Given the description of an element on the screen output the (x, y) to click on. 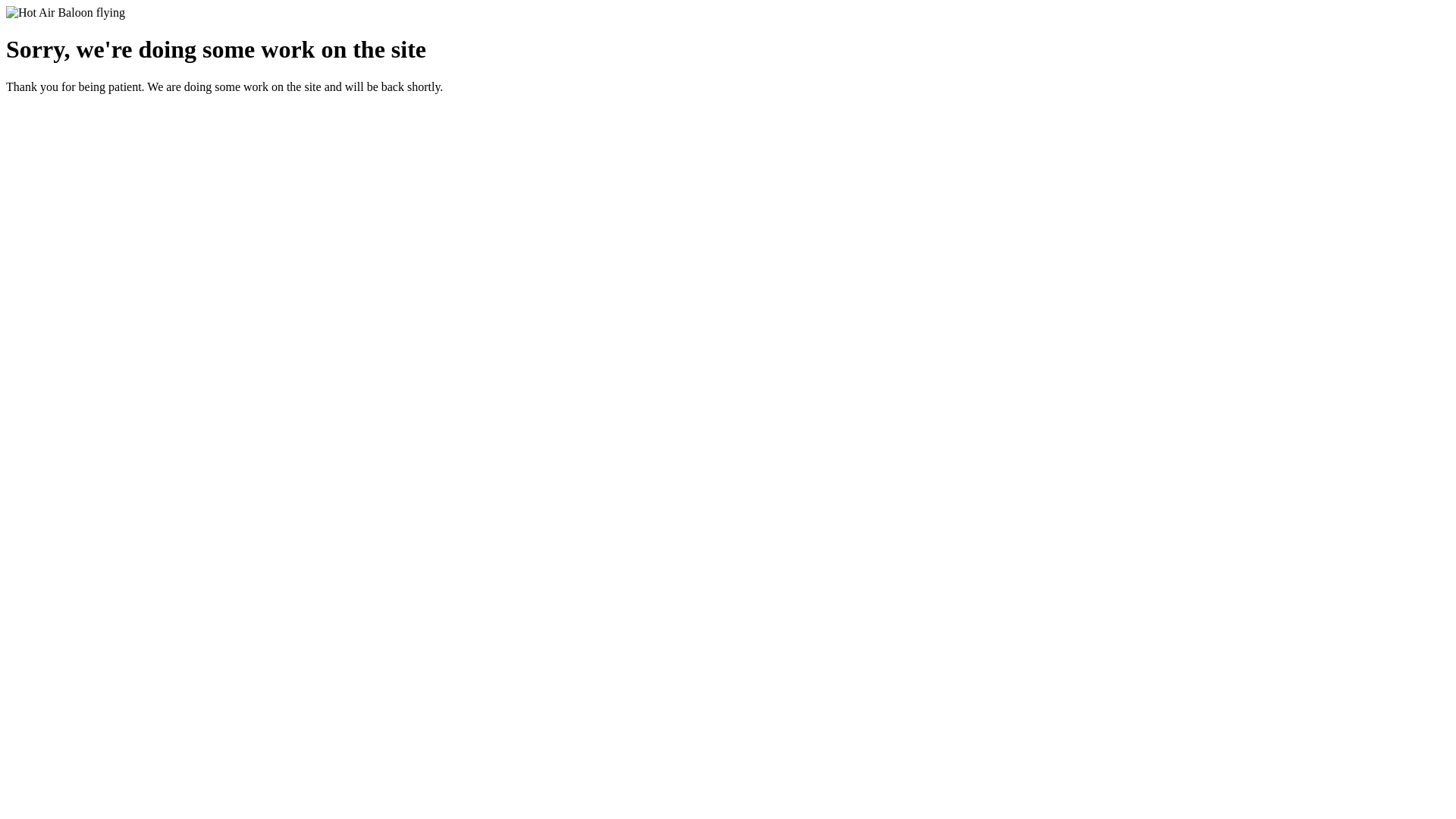
Hot Air Baloon flying Element type: hover (65, 12)
